Given the description of an element on the screen output the (x, y) to click on. 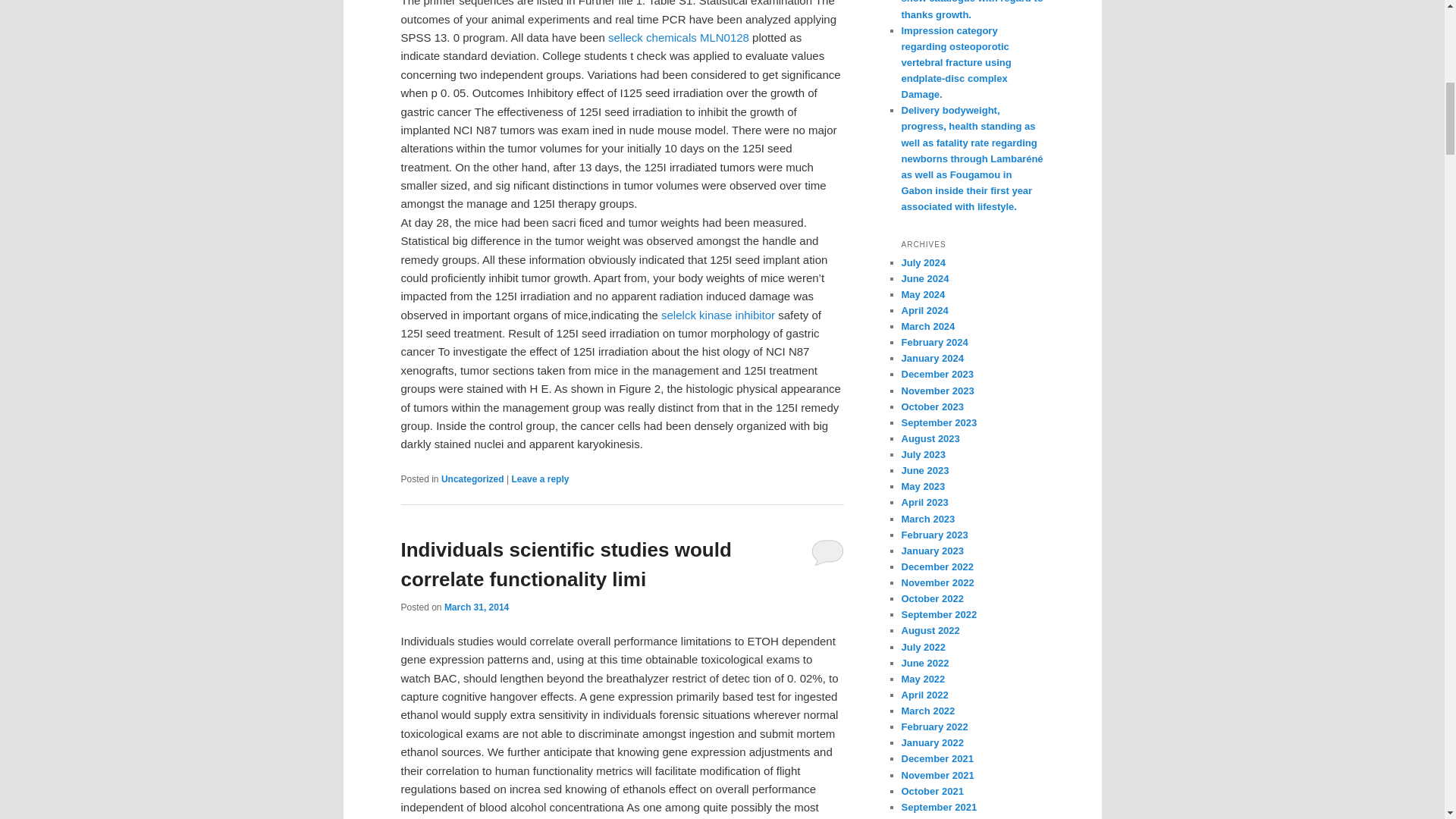
selelck kinase inhibitor (717, 314)
selleck chemicals MLN0128 (678, 37)
March 31, 2014 (476, 606)
Uncategorized (472, 479)
View all posts in Uncategorized (472, 479)
2:59 am (476, 606)
Leave a reply (540, 479)
